Given the description of an element on the screen output the (x, y) to click on. 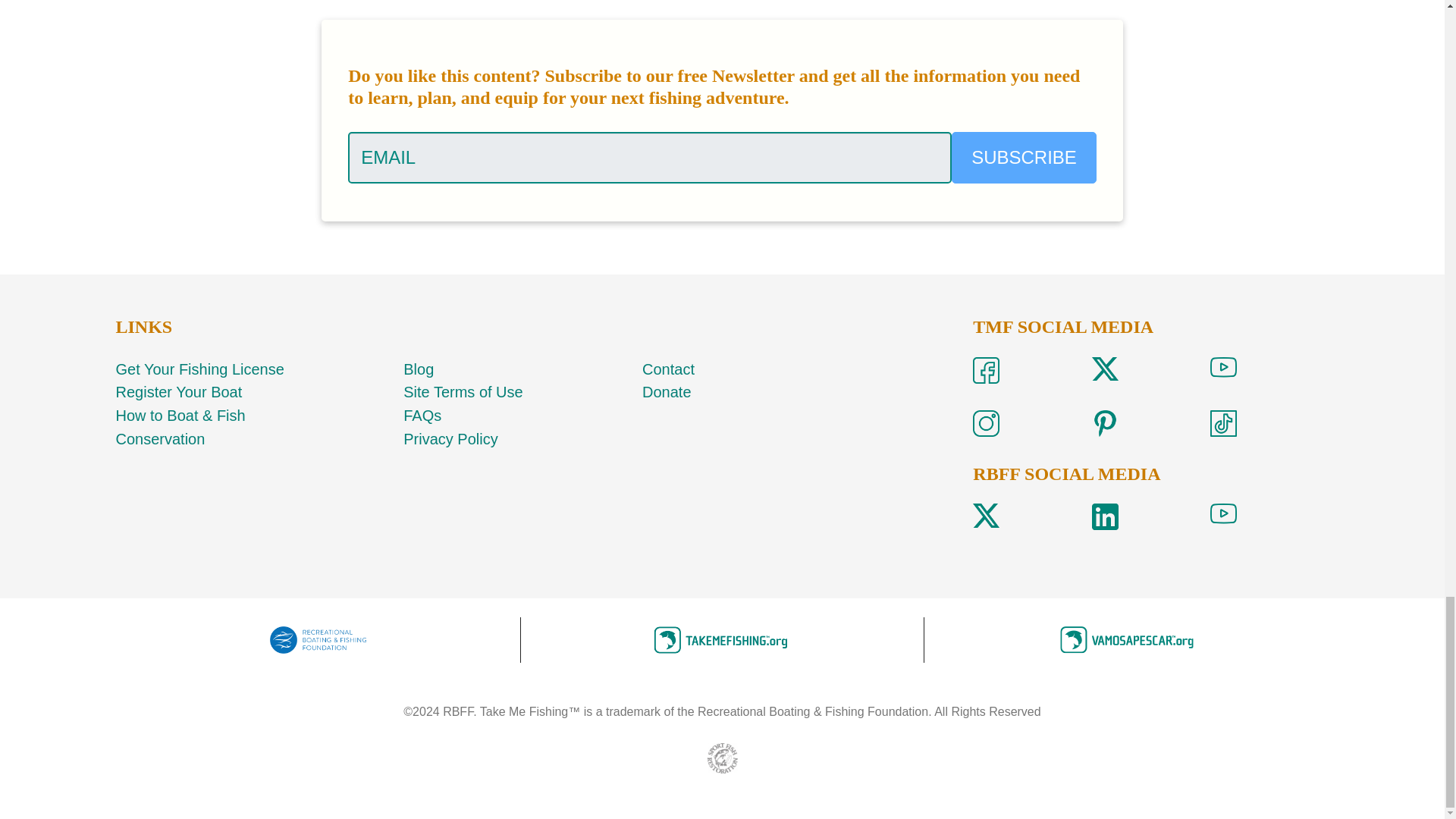
Subscribe (1024, 157)
